Given the description of an element on the screen output the (x, y) to click on. 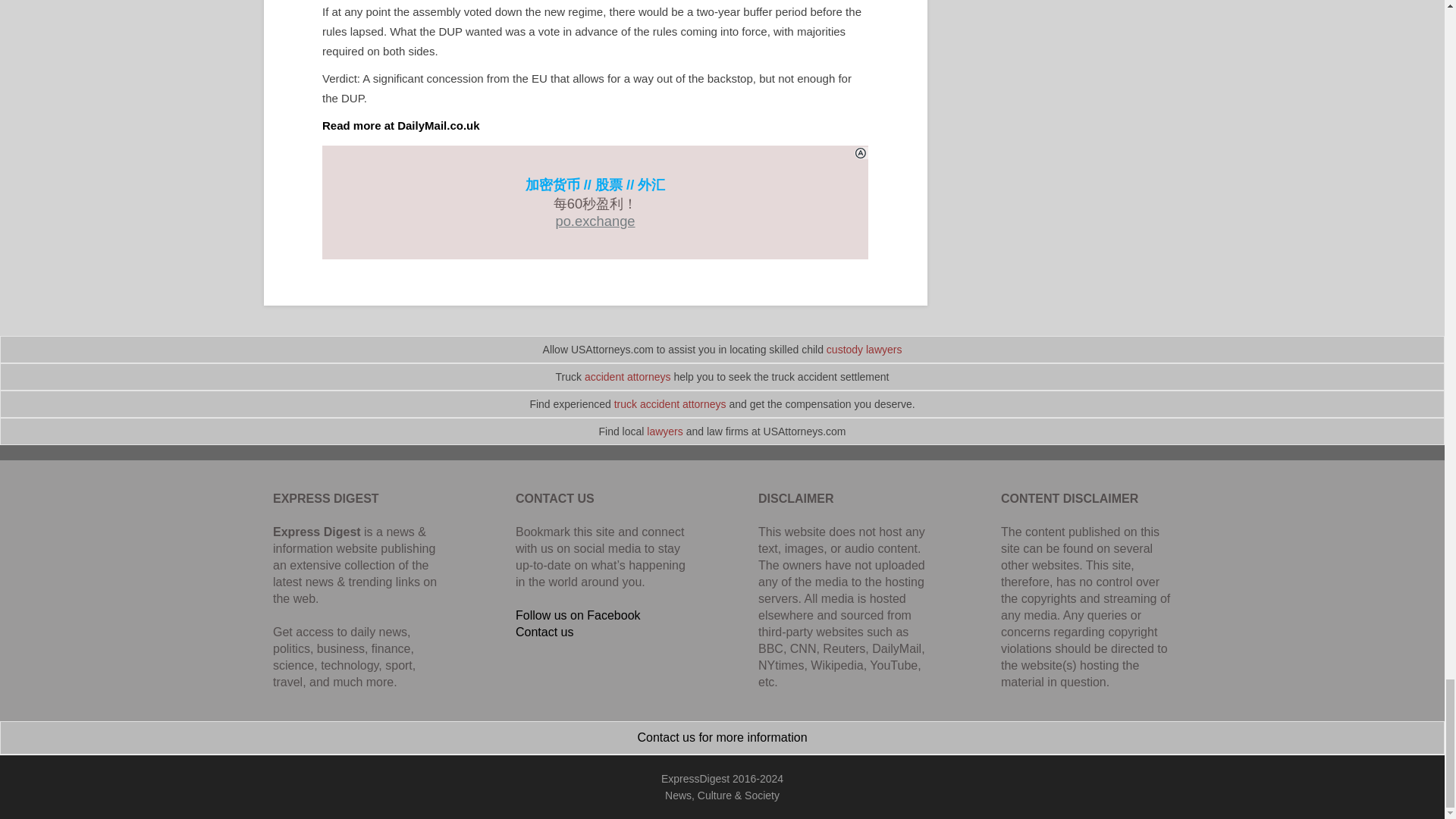
truck accident attorneys (670, 404)
custody lawyers (864, 349)
accident attorneys (628, 377)
Read more at DailyMail.co.uk (400, 124)
lawyers (664, 431)
